Given the description of an element on the screen output the (x, y) to click on. 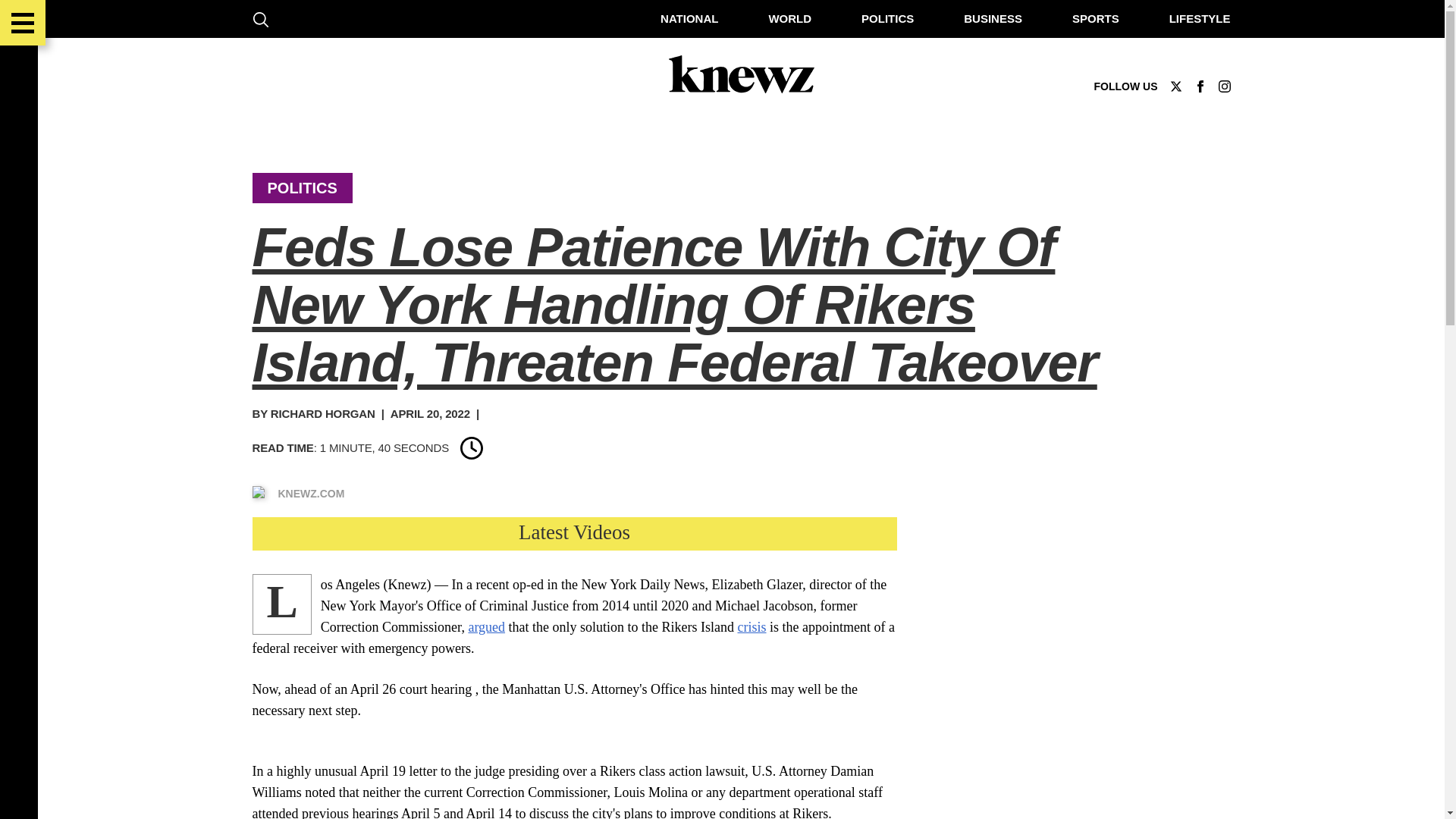
APRIL 20, 2022 (430, 413)
SPORTS (1095, 18)
POLITICS (887, 18)
WORLD (789, 18)
POLITICS (301, 187)
argued (486, 626)
BUSINESS (992, 18)
LIFESTYLE (1199, 18)
NATIONAL (689, 18)
